Given the description of an element on the screen output the (x, y) to click on. 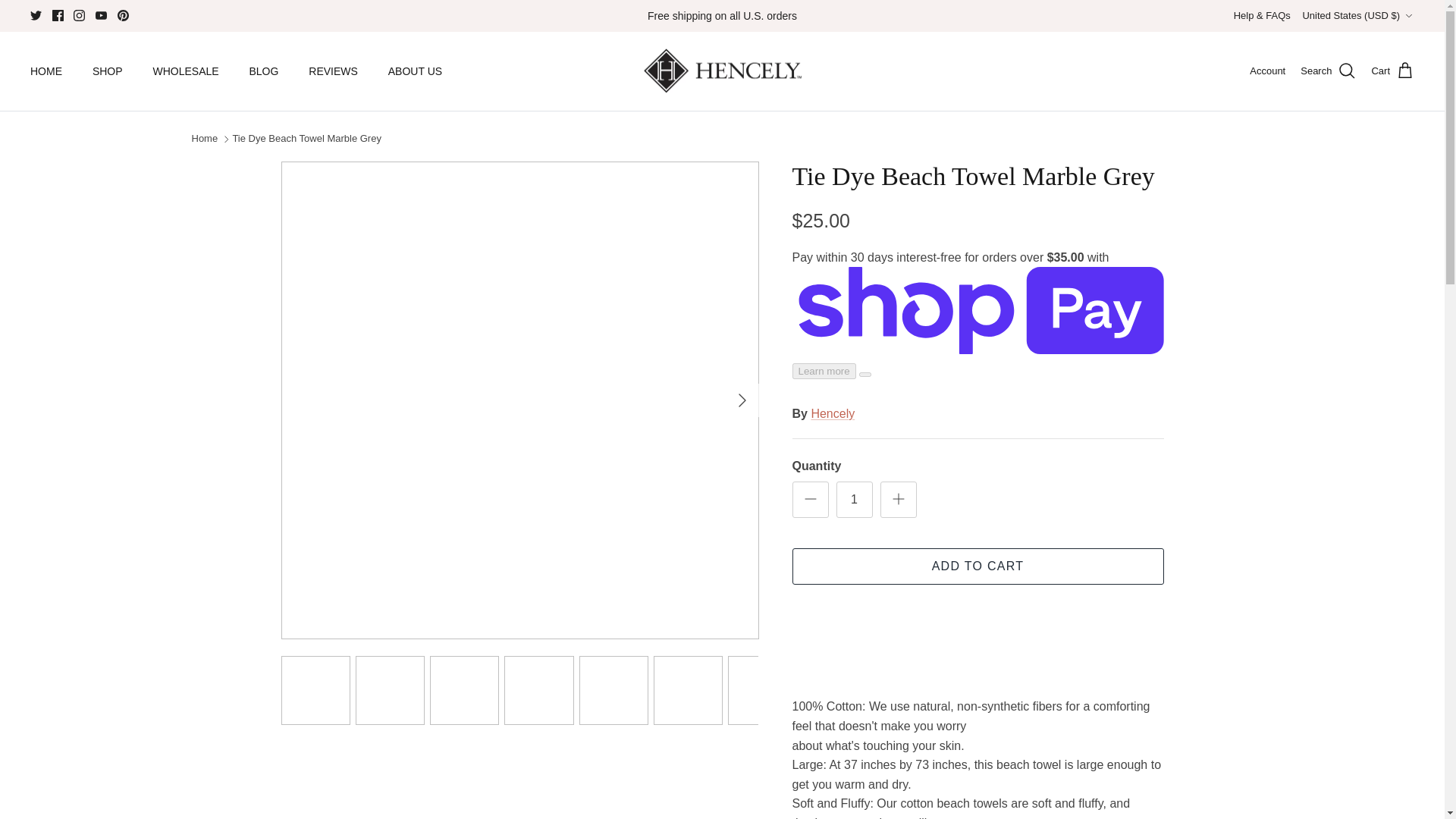
Instagram (79, 15)
RIGHT (741, 400)
Youtube (101, 15)
Facebook (58, 15)
Plus (897, 498)
Instagram (79, 15)
Down (1408, 15)
Hencely (722, 71)
Facebook (58, 15)
Twitter (36, 15)
